Given the description of an element on the screen output the (x, y) to click on. 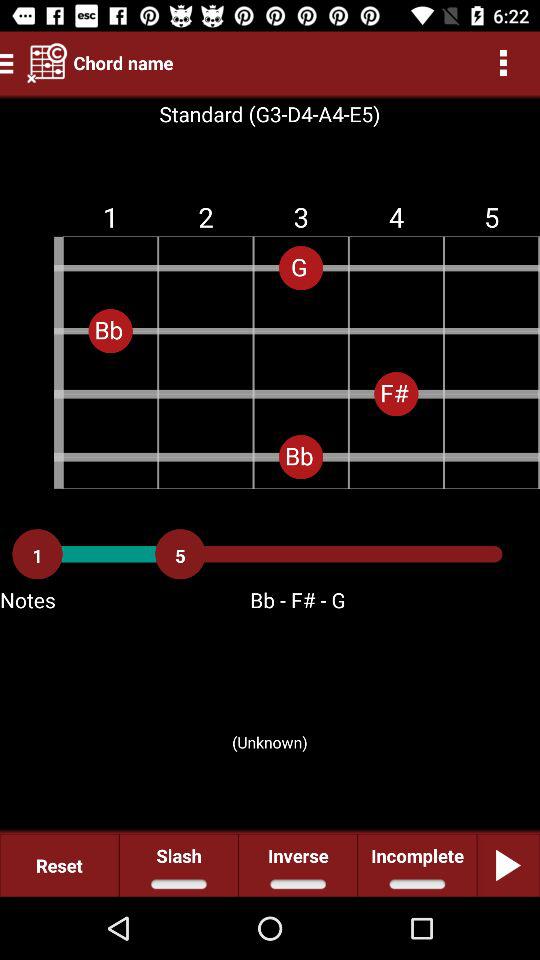
choose the slash (178, 864)
